Given the description of an element on the screen output the (x, y) to click on. 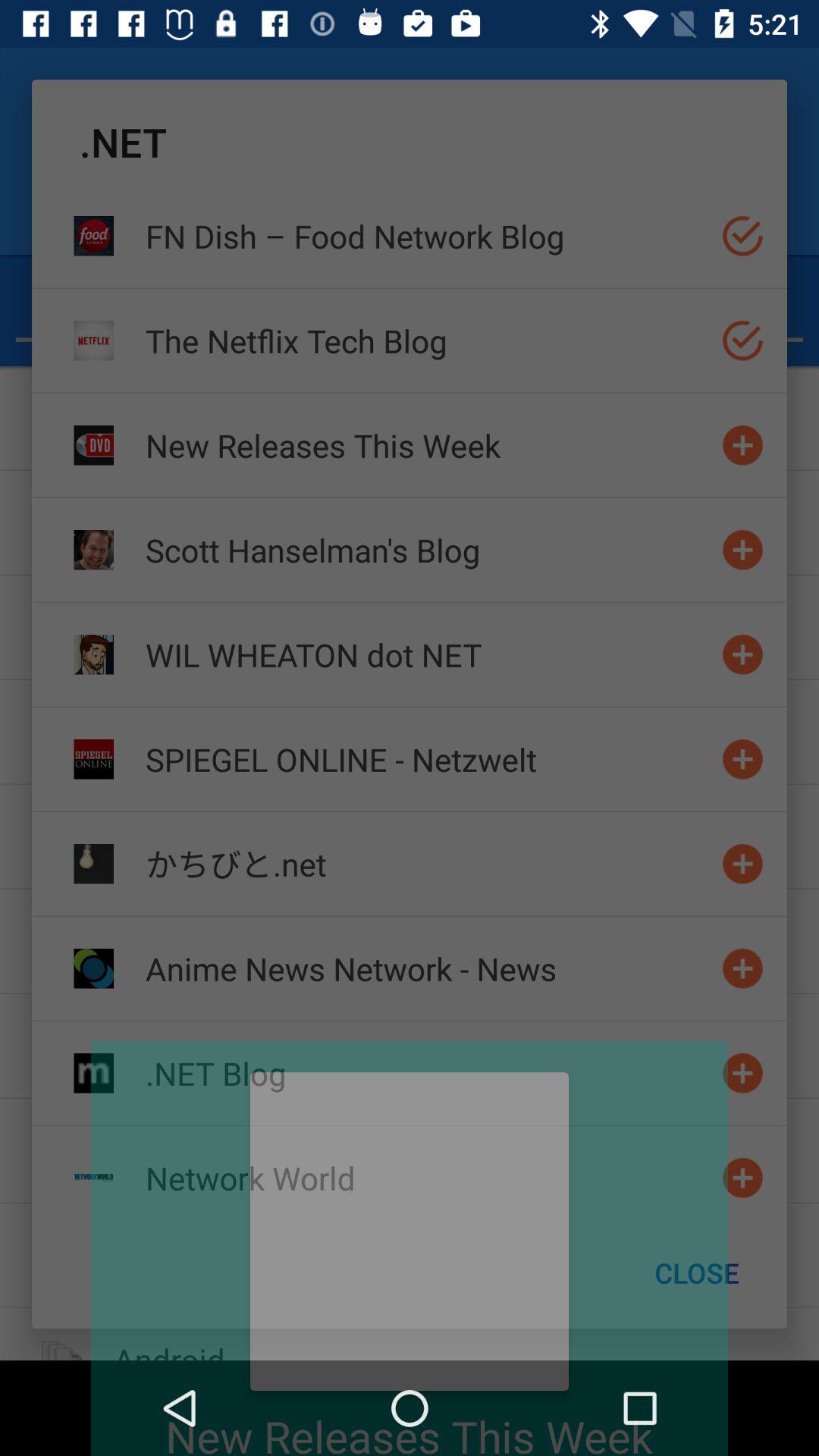
add this to a list (742, 654)
